Given the description of an element on the screen output the (x, y) to click on. 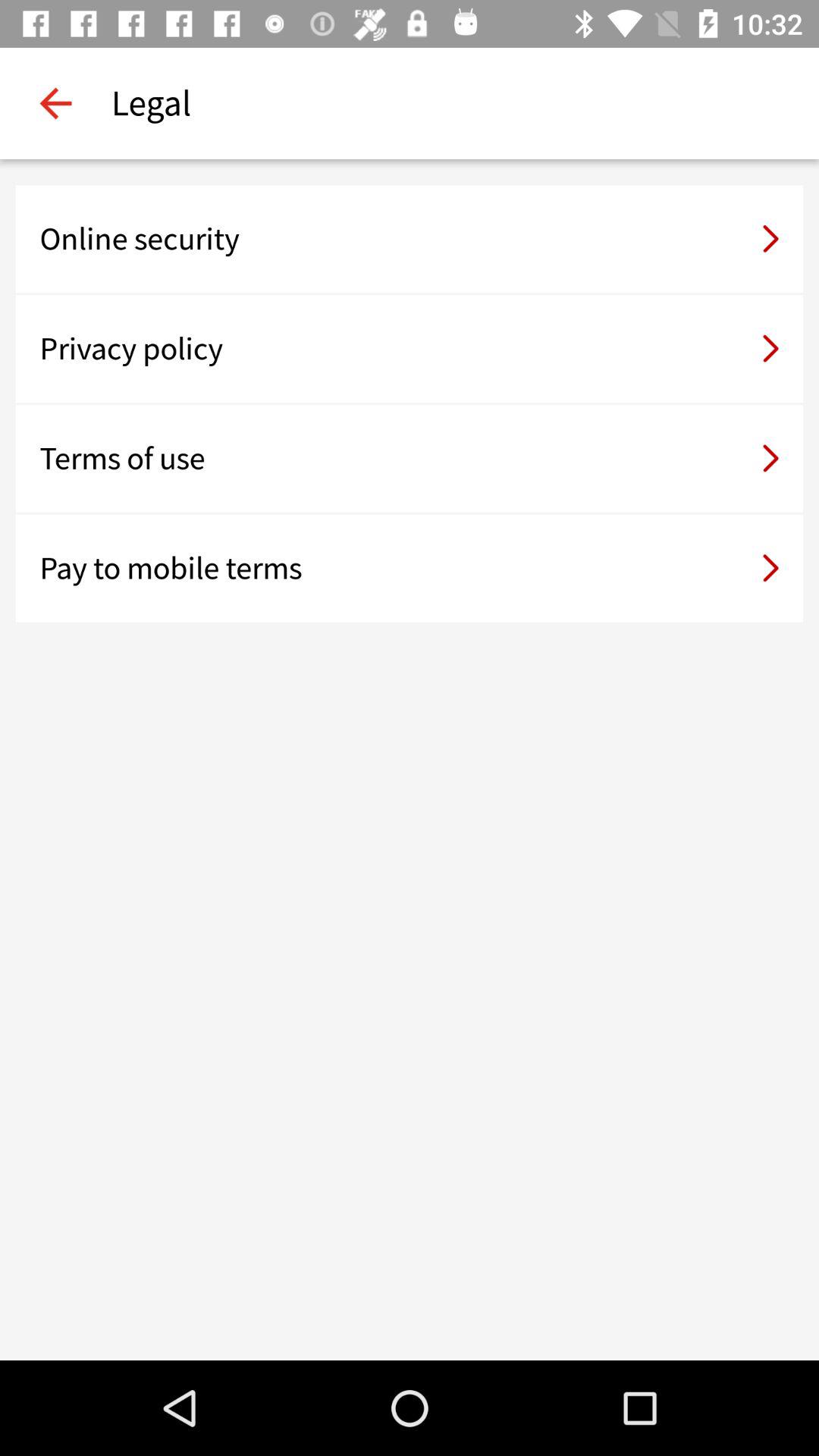
choose the item below terms of use icon (409, 568)
